Given the description of an element on the screen output the (x, y) to click on. 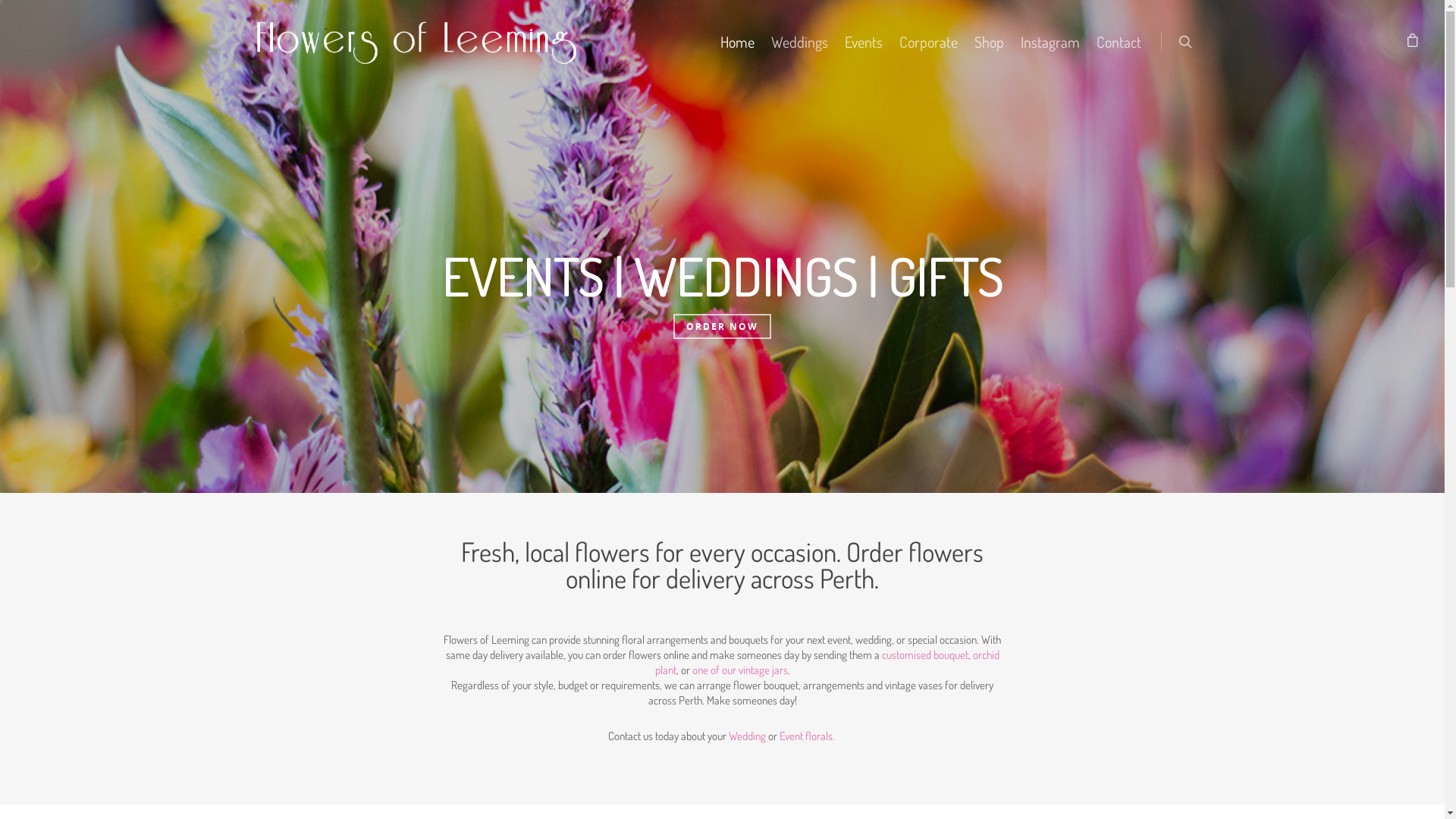
Wedding Element type: text (746, 735)
Home Element type: text (737, 49)
Weddings Element type: text (799, 49)
Contact Element type: text (1118, 49)
Event florals.  Element type: text (808, 735)
orchid plant Element type: text (827, 662)
customised bouquet Element type: text (924, 654)
Instagram Element type: text (1050, 49)
one of our vintage jars Element type: text (739, 669)
Shop Element type: text (988, 49)
ORDER NOW Element type: text (722, 325)
Events Element type: text (863, 49)
Corporate Element type: text (928, 49)
